Given the description of an element on the screen output the (x, y) to click on. 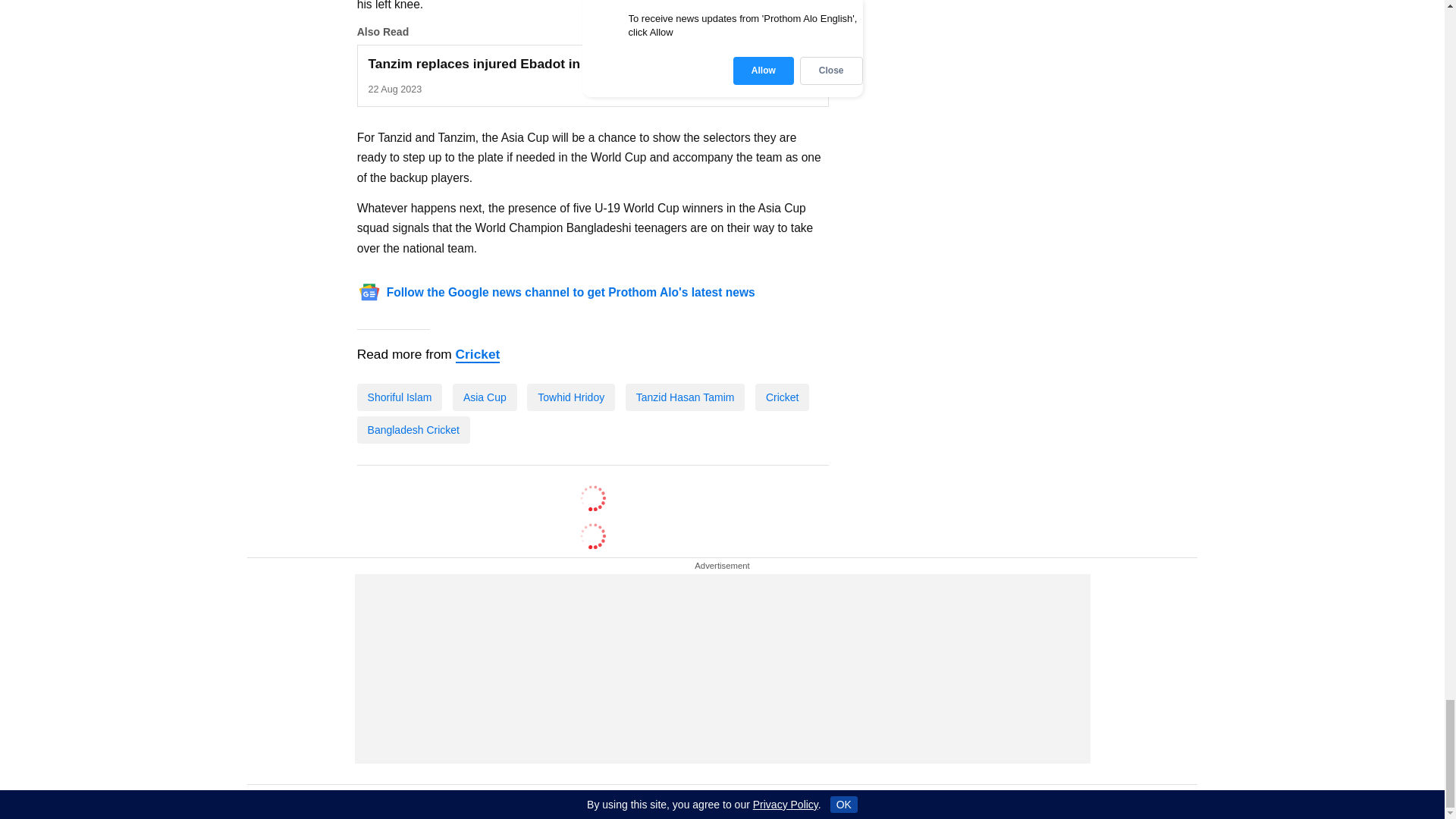
Cricket (782, 397)
Tanzid Hasan Tamim (685, 397)
Shoriful Islam (399, 397)
Asia Cup (484, 397)
Cricket (477, 354)
Bangladesh Cricket (413, 429)
Towhid Hridoy (504, 75)
